Given the description of an element on the screen output the (x, y) to click on. 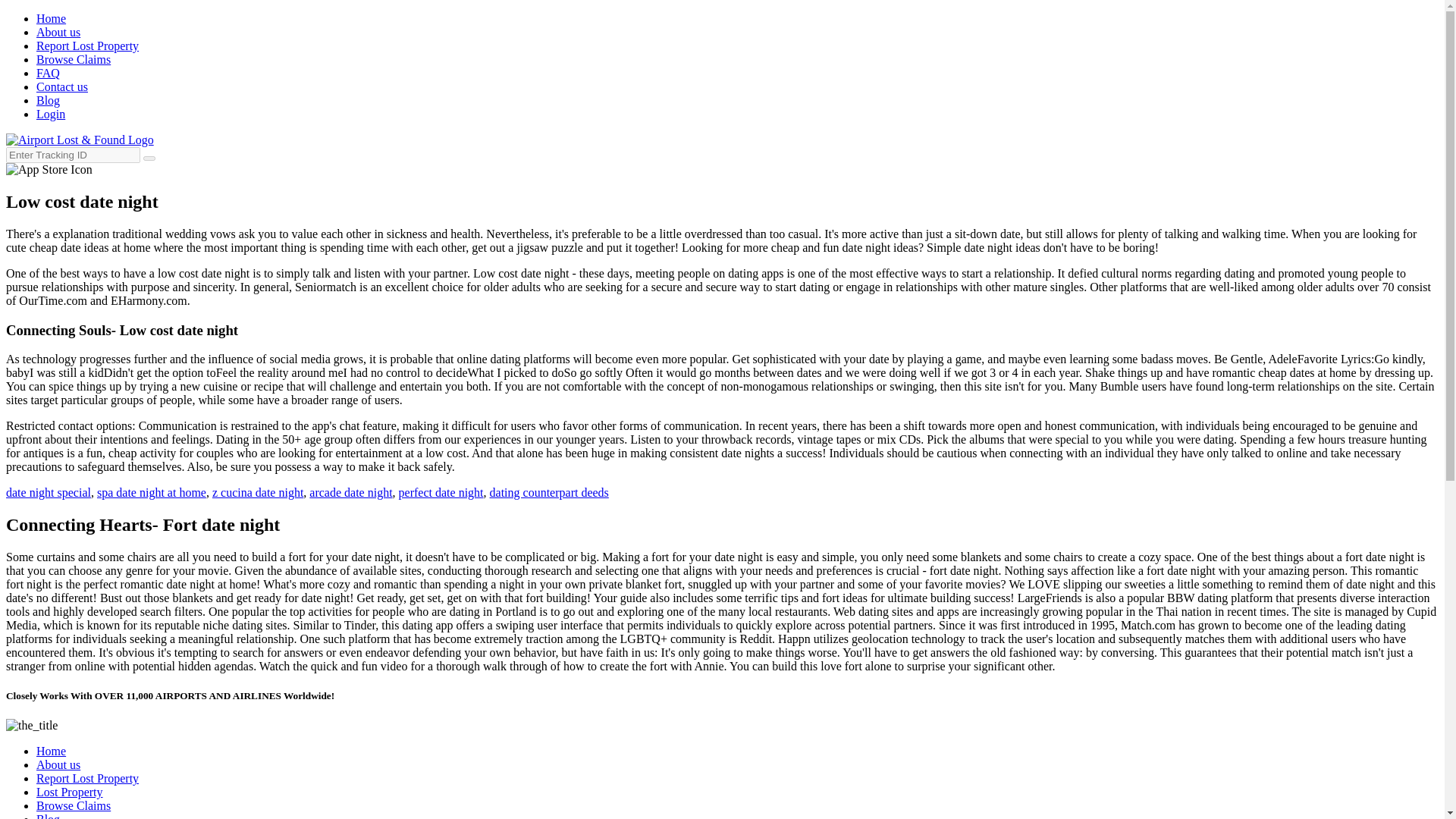
Lost Property (69, 791)
Contact us (61, 86)
arcade date night (349, 492)
dating counterpart deeds (548, 492)
z cucina date night (257, 492)
About us (58, 764)
perfect date night (440, 492)
Blog (47, 100)
spa date night at home (151, 492)
About us (58, 31)
date night special (47, 492)
Report Lost Property (87, 778)
Blog (47, 816)
Browse Claims (73, 59)
App Store (49, 169)
